Given the description of an element on the screen output the (x, y) to click on. 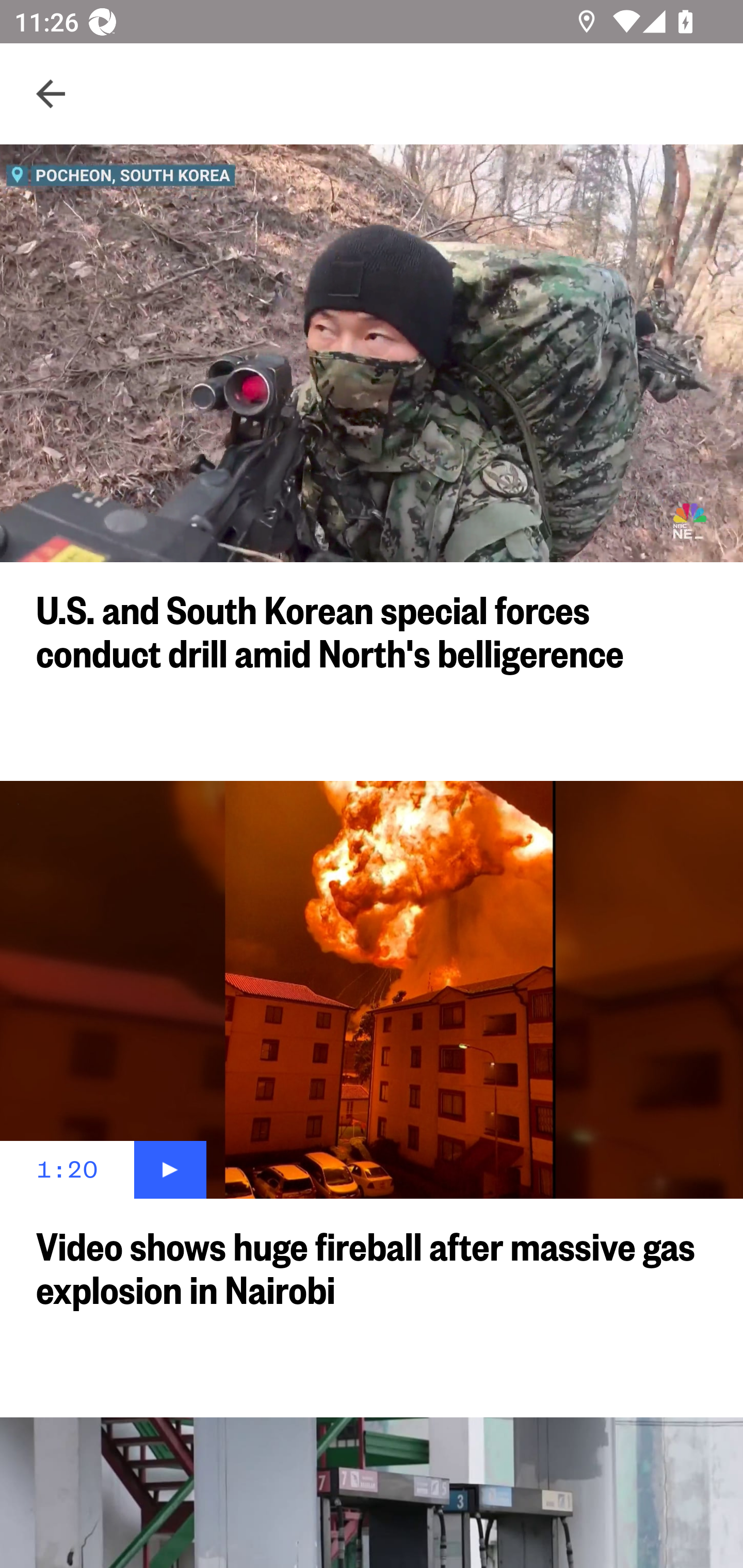
Navigate up (50, 93)
